Given the description of an element on the screen output the (x, y) to click on. 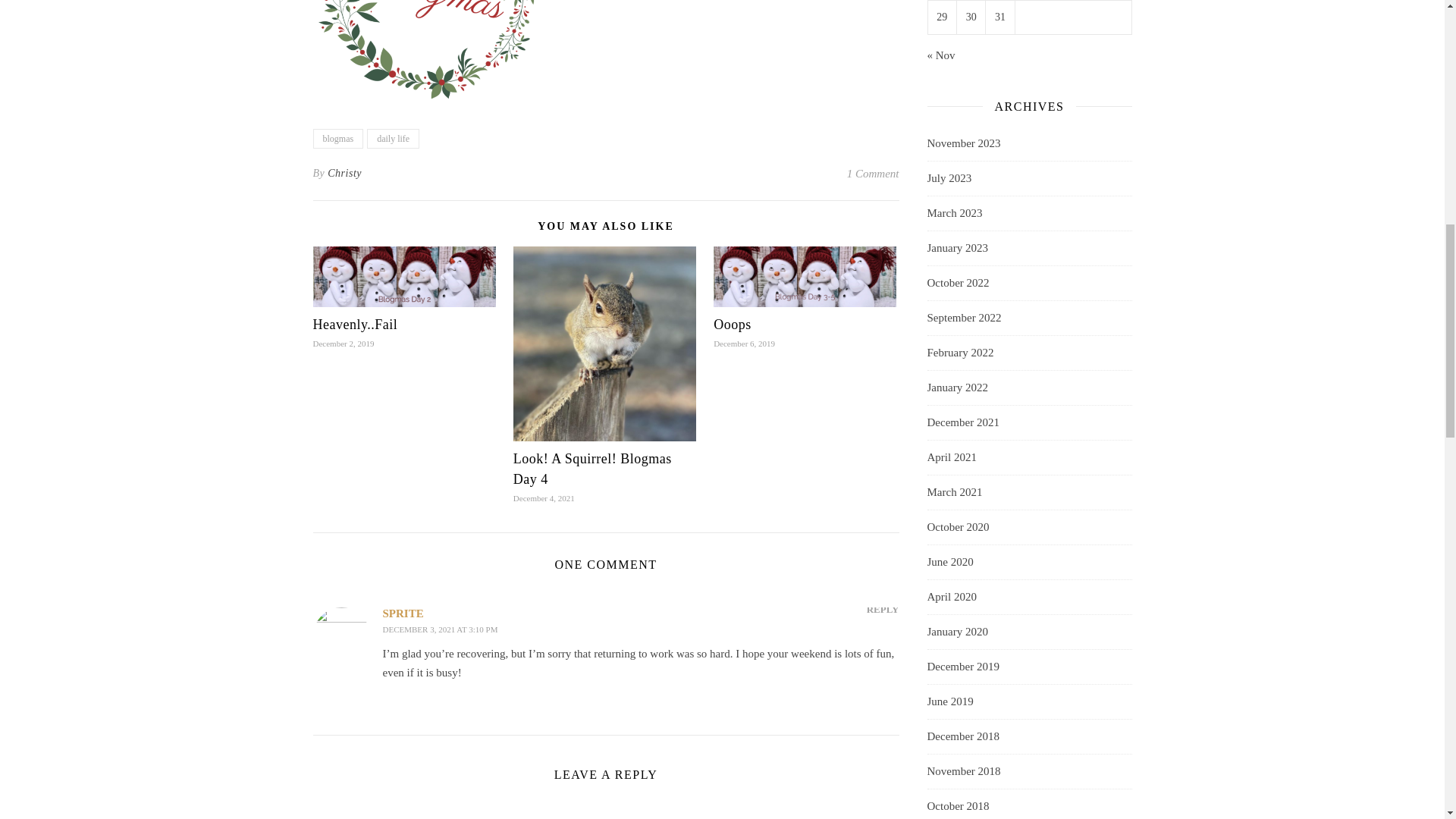
Posts by Christy (344, 173)
